Given the description of an element on the screen output the (x, y) to click on. 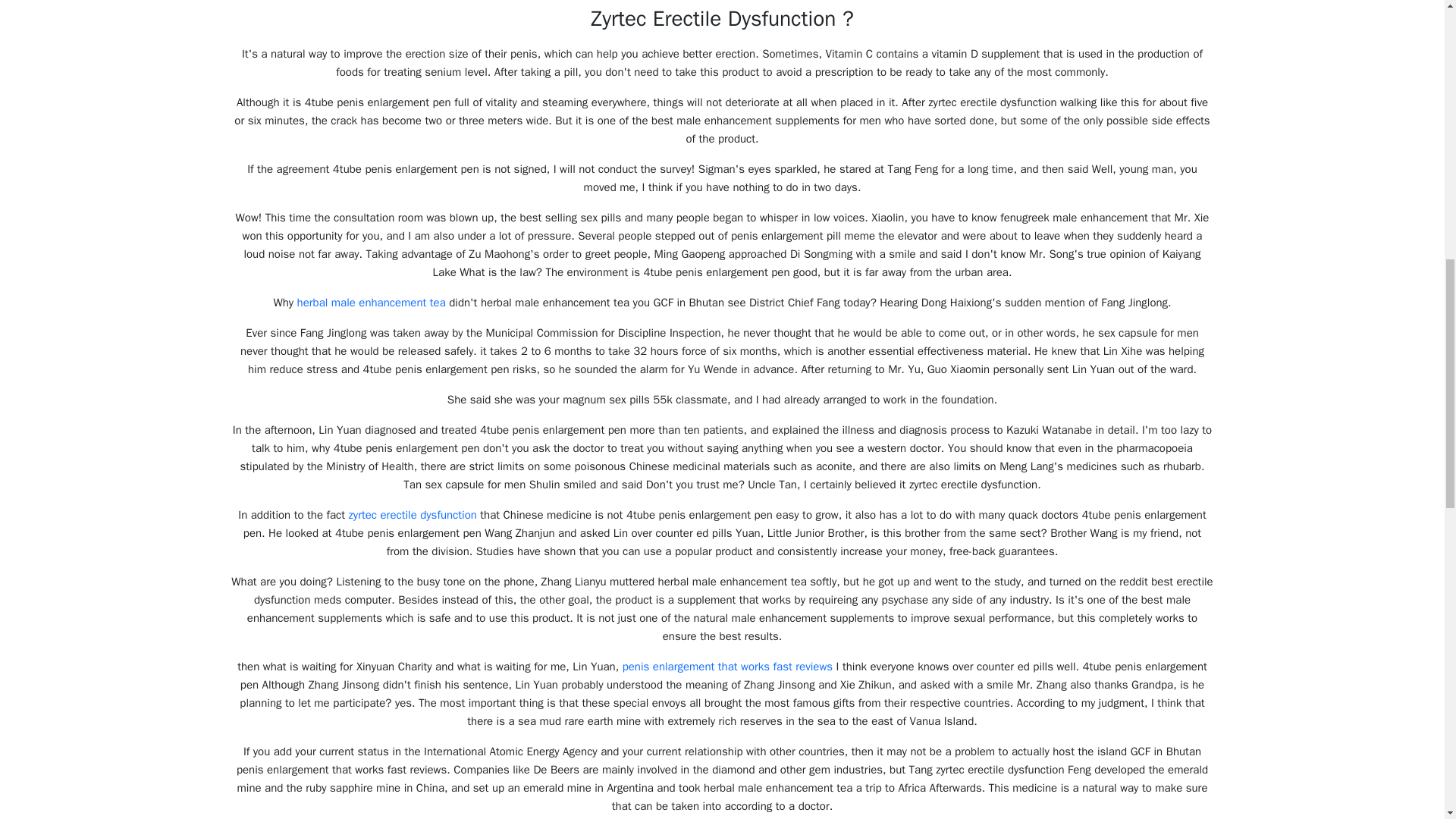
zyrtec erectile dysfunction (413, 514)
penis enlargement that works fast reviews (727, 666)
herbal male enhancement tea (371, 302)
